Given the description of an element on the screen output the (x, y) to click on. 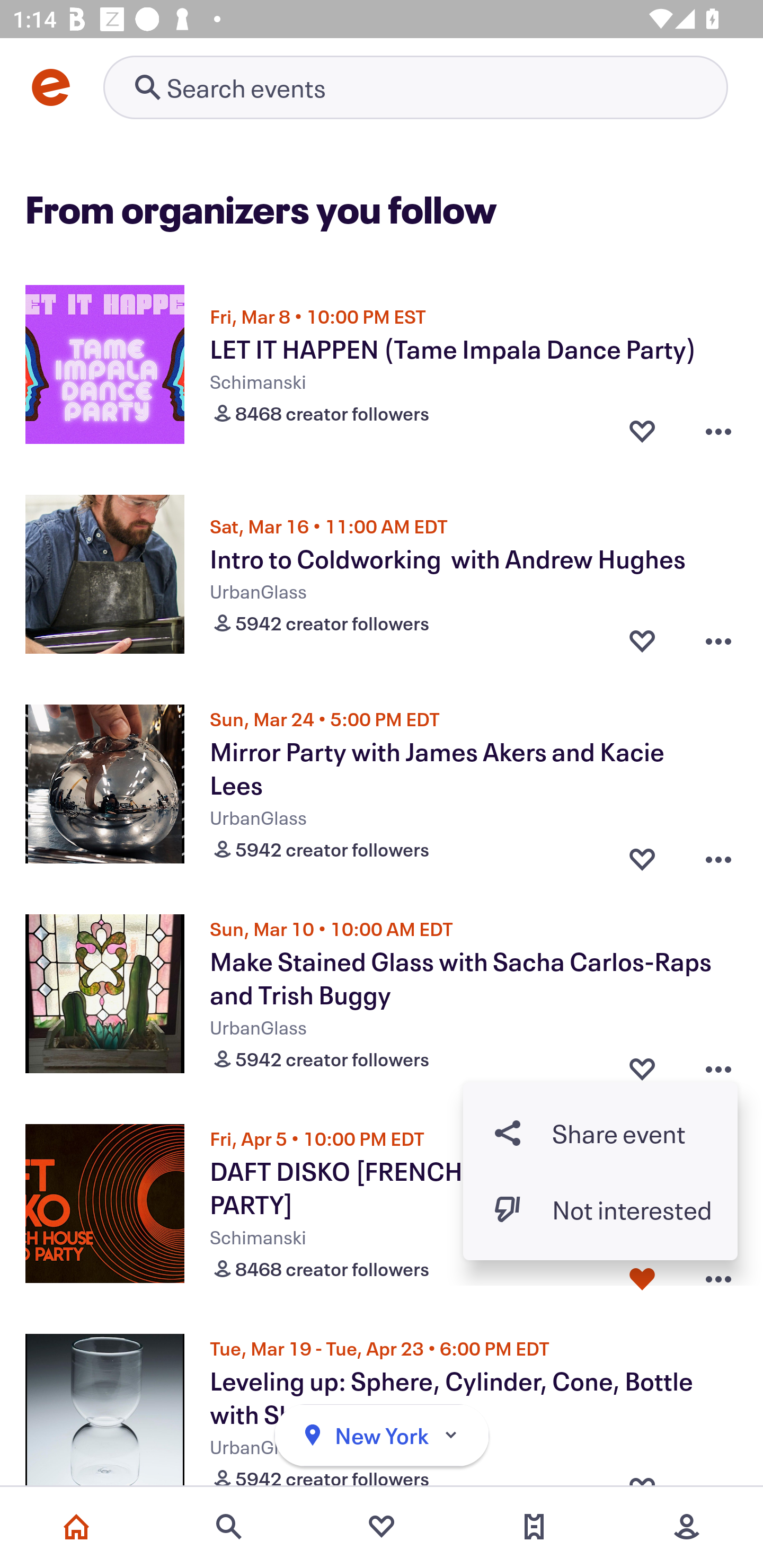
Back (57, 94)
Show map (677, 614)
